Given the description of an element on the screen output the (x, y) to click on. 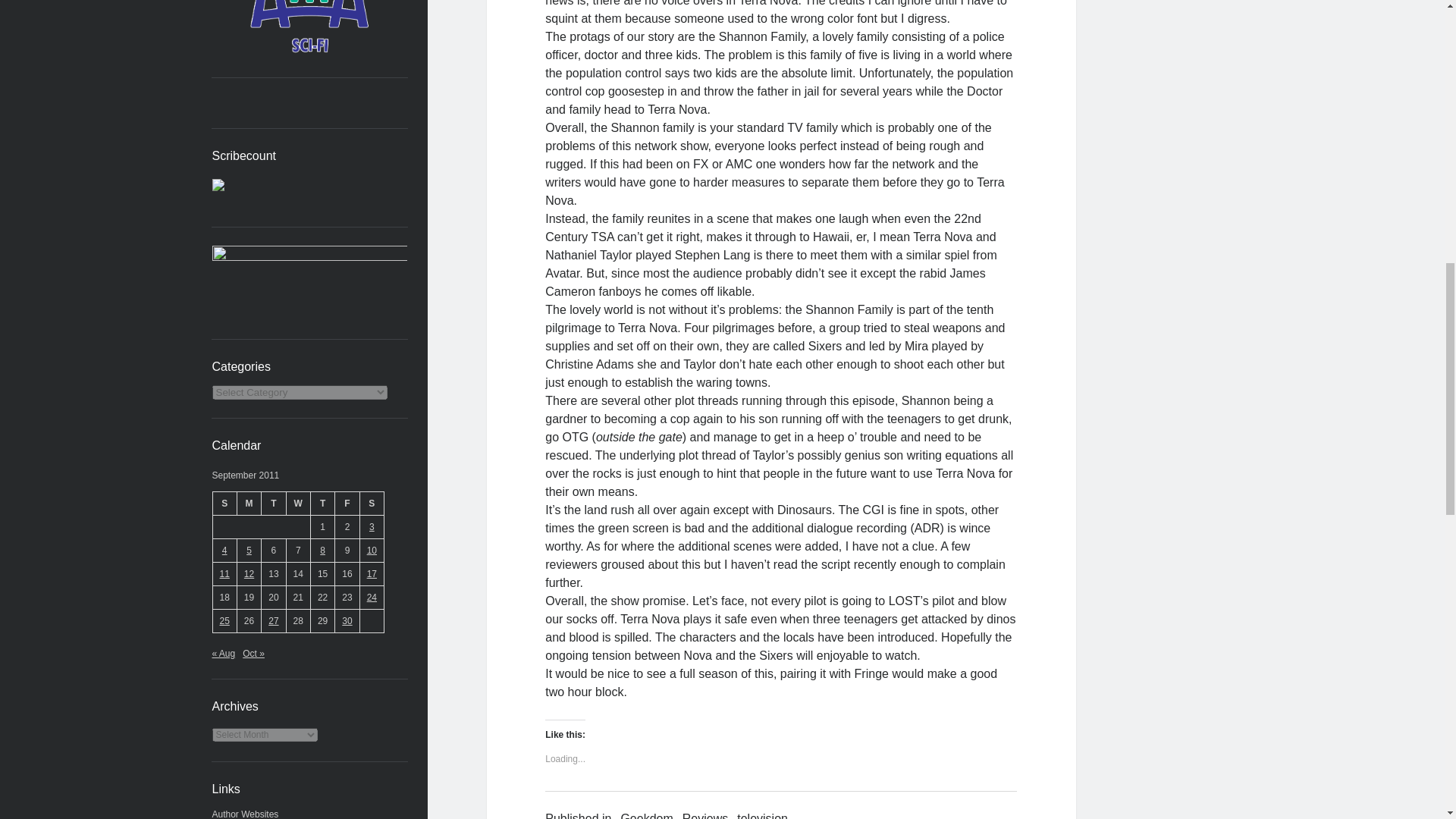
Monday (247, 503)
11 (224, 573)
27 (272, 620)
Wednesday (297, 503)
Tuesday (273, 503)
Sunday (223, 503)
25 (224, 620)
Friday (346, 503)
View all posts in Geekdom (646, 814)
17 (371, 573)
